Given the description of an element on the screen output the (x, y) to click on. 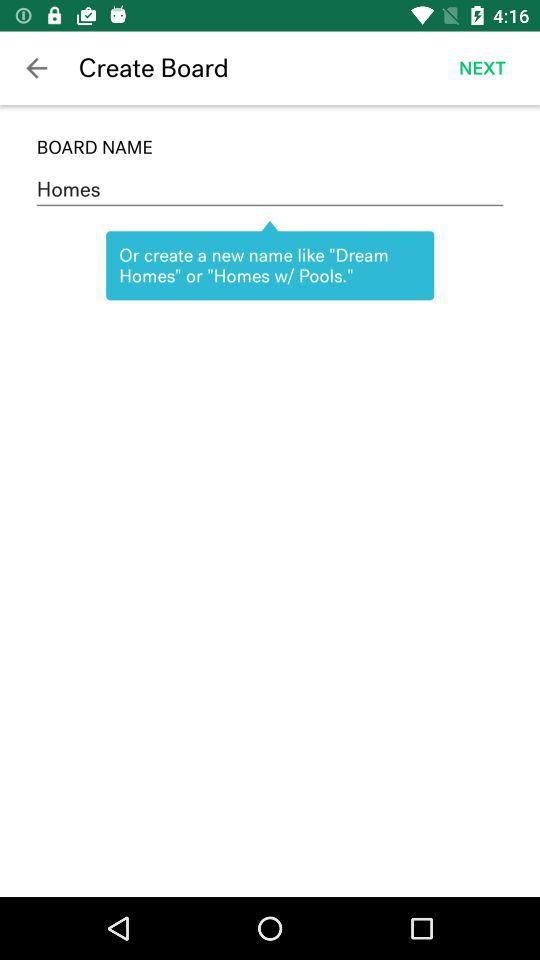
jump to the board name icon (269, 147)
